Given the description of an element on the screen output the (x, y) to click on. 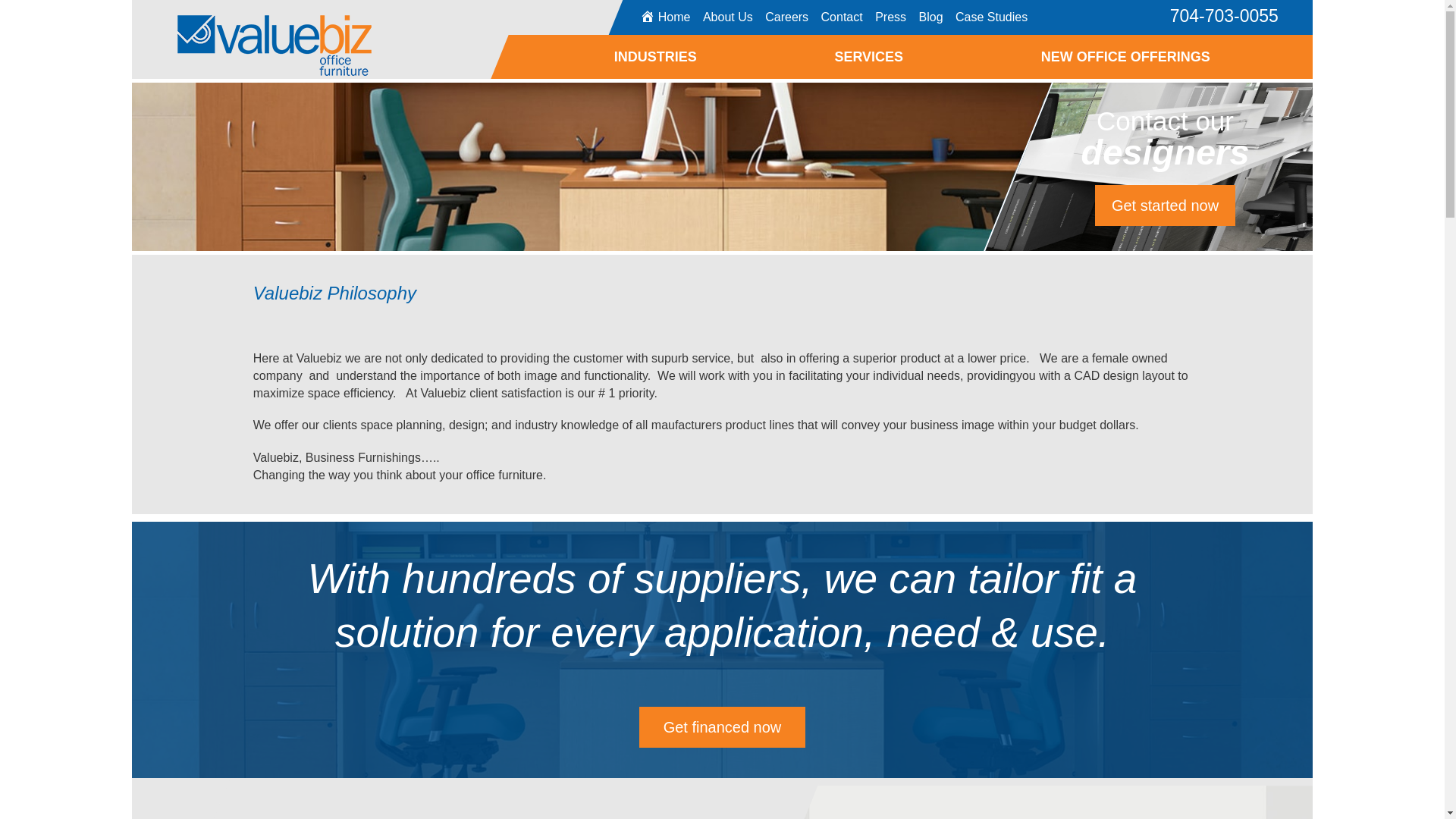
Case Studies (991, 17)
Get started now (1164, 205)
Home (665, 17)
Valuebiz Office Furniture (251, 38)
Careers (786, 17)
SERVICES (868, 56)
INDUSTRIES (655, 56)
704-703-0055 (1224, 15)
About Us (727, 17)
Blog (931, 17)
NEW OFFICE OFFERINGS (1124, 56)
Get financed now (722, 726)
Contact (841, 17)
Press (890, 17)
